Given the description of an element on the screen output the (x, y) to click on. 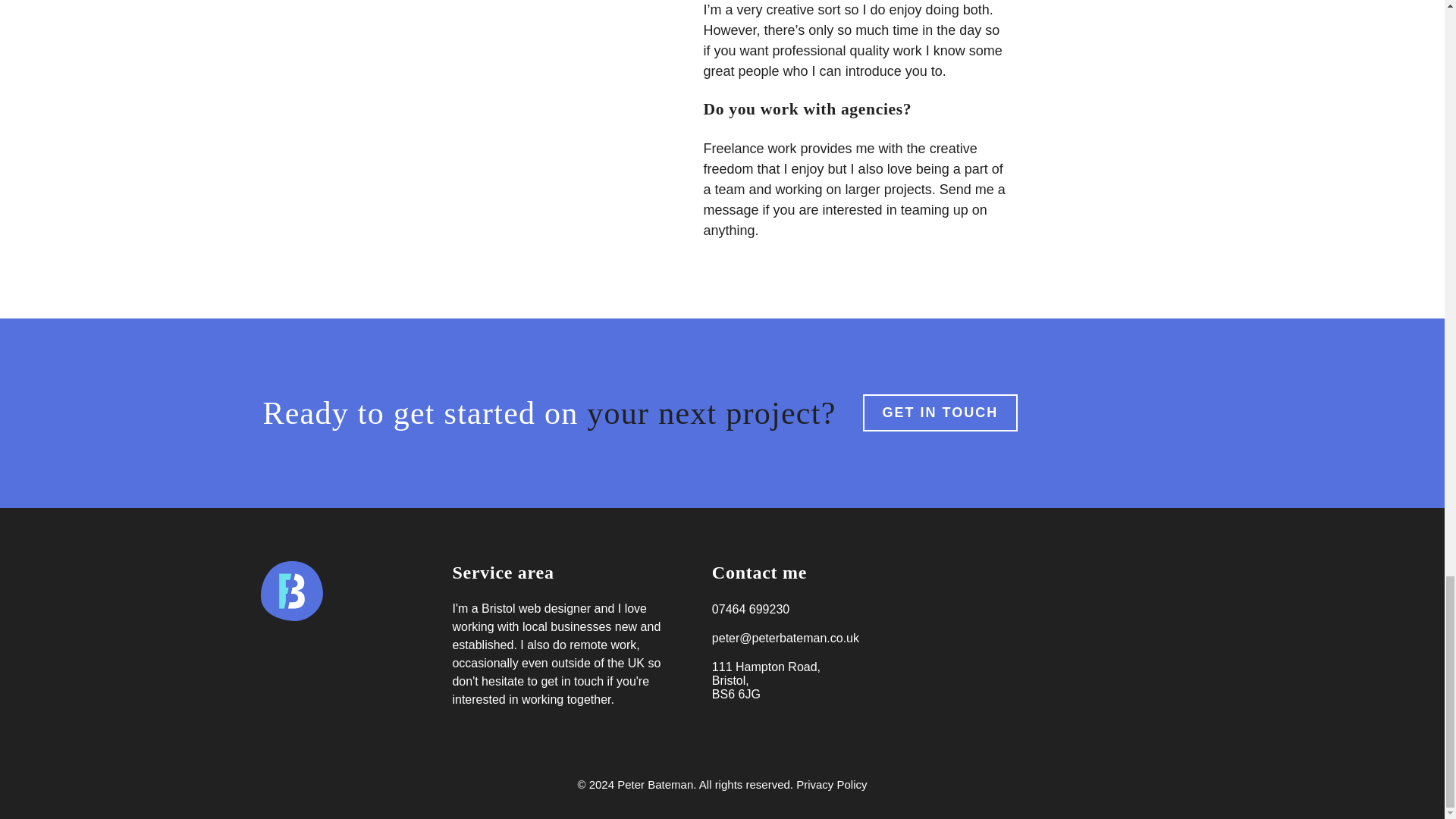
Privacy Policy (831, 784)
GET IN TOUCH (940, 412)
07464 699230 (750, 609)
